Given the description of an element on the screen output the (x, y) to click on. 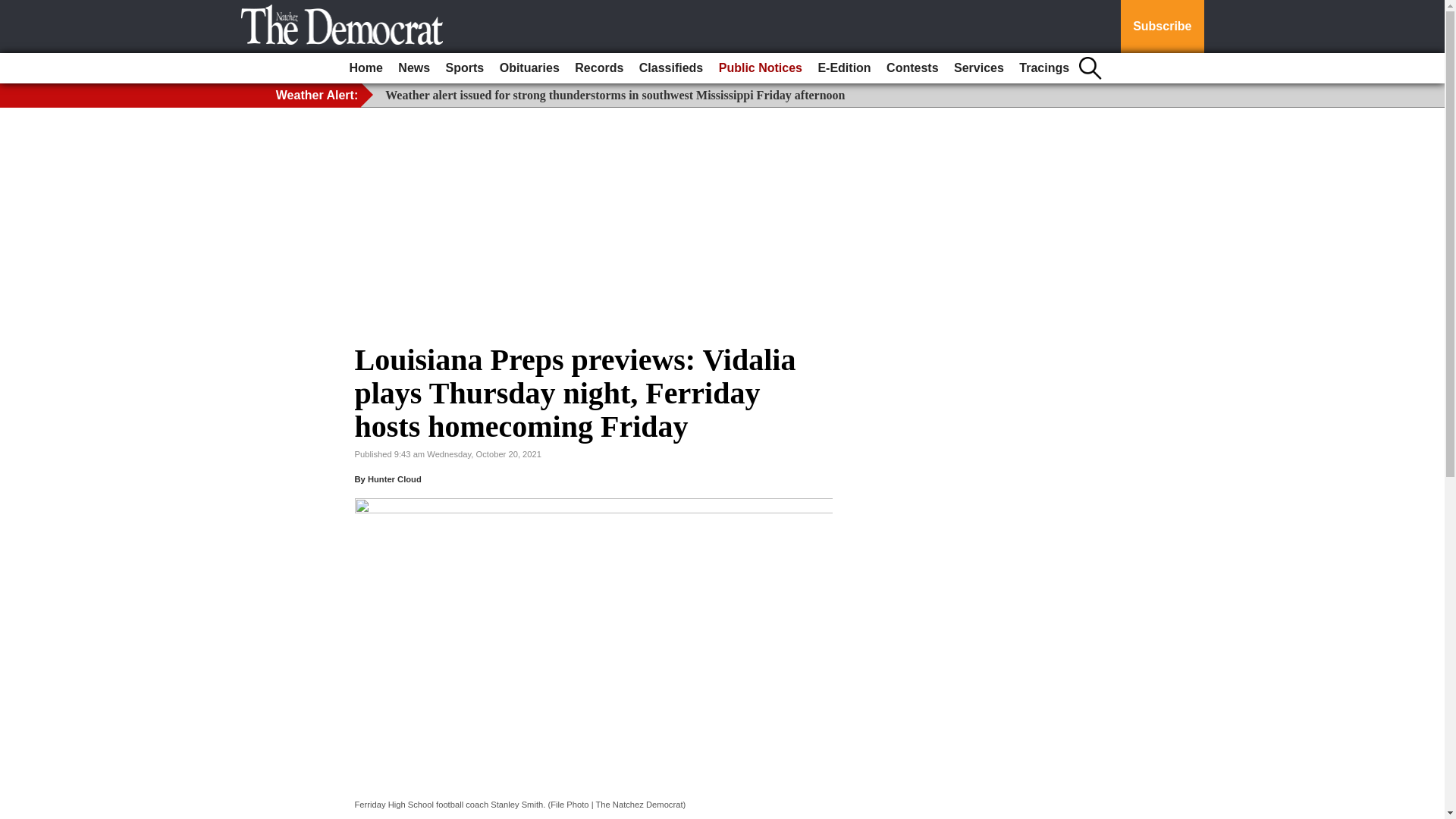
Go (13, 9)
Sports (464, 68)
Classifieds (671, 68)
Hunter Cloud (395, 479)
Services (978, 68)
Records (598, 68)
Contests (911, 68)
Obituaries (529, 68)
E-Edition (843, 68)
